Given the description of an element on the screen output the (x, y) to click on. 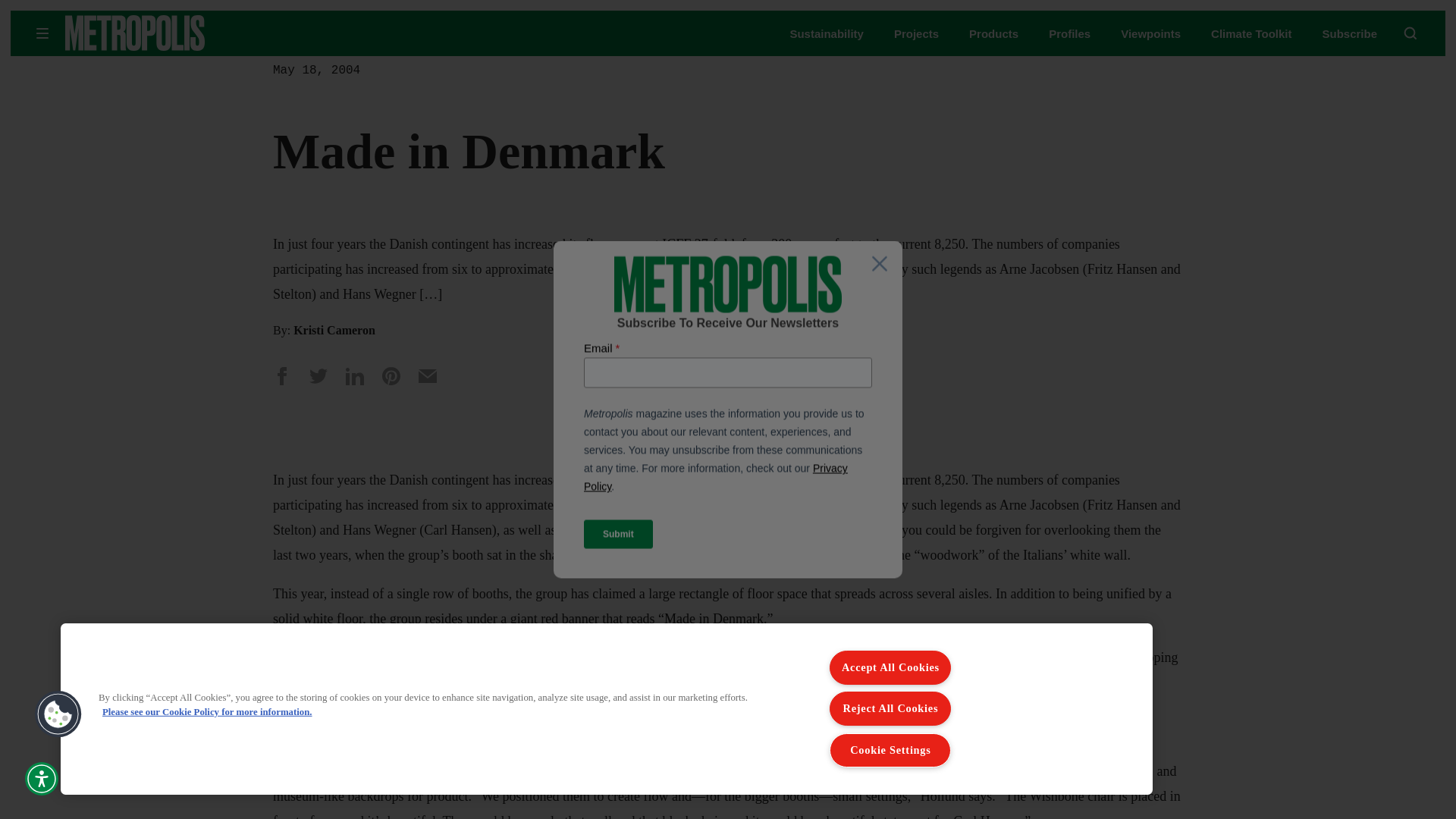
Popup CTA (727, 409)
Accessibility Menu (41, 778)
METROPOLIS (181, 33)
Profiles (1069, 33)
Climate Toolkit (1251, 33)
Viewpoints (1150, 33)
Subscribe (1349, 33)
Products (993, 33)
Sustainability (826, 33)
Projects (916, 33)
Cookies Button (57, 714)
